Given the description of an element on the screen output the (x, y) to click on. 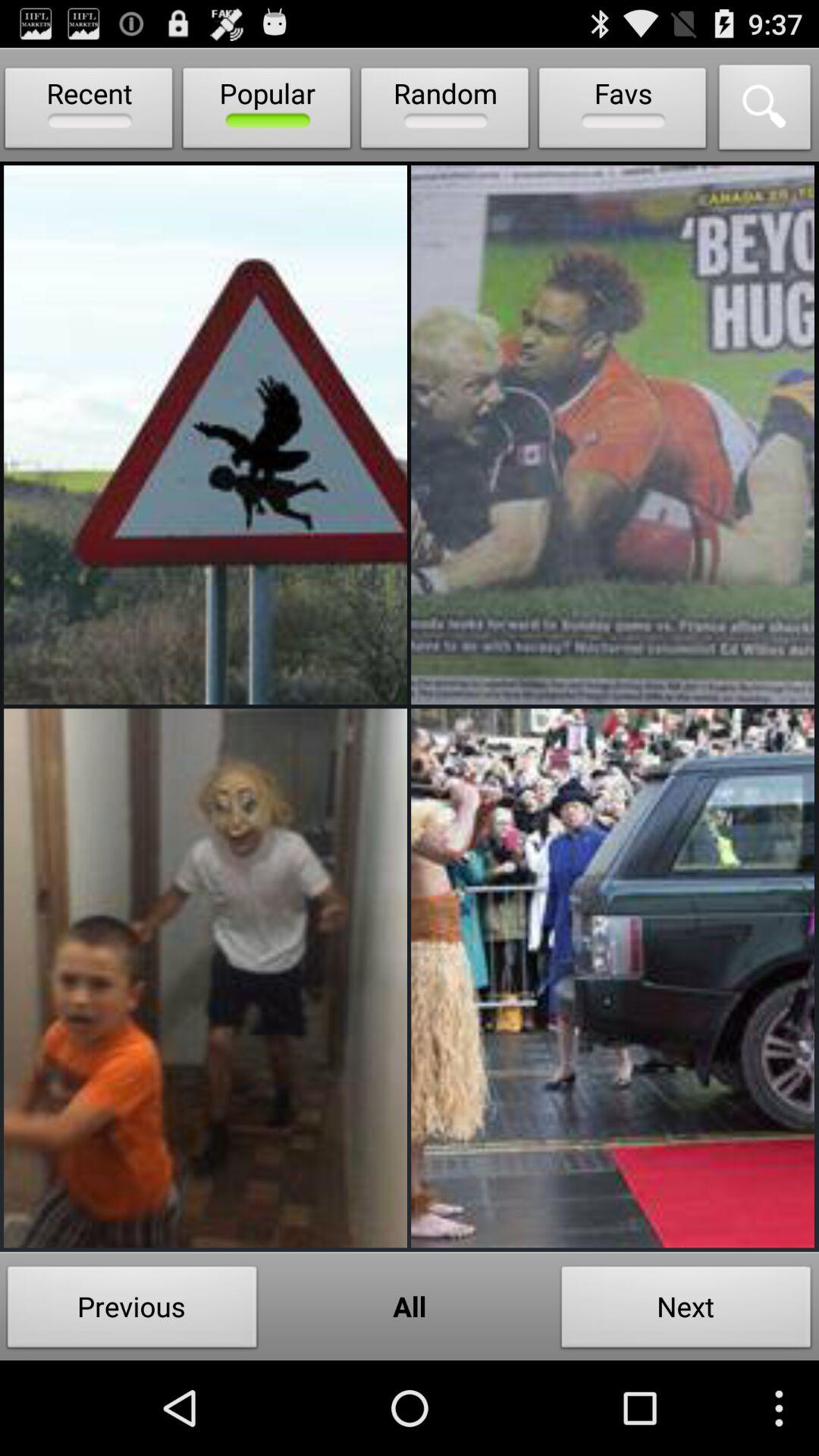
search (765, 111)
